Given the description of an element on the screen output the (x, y) to click on. 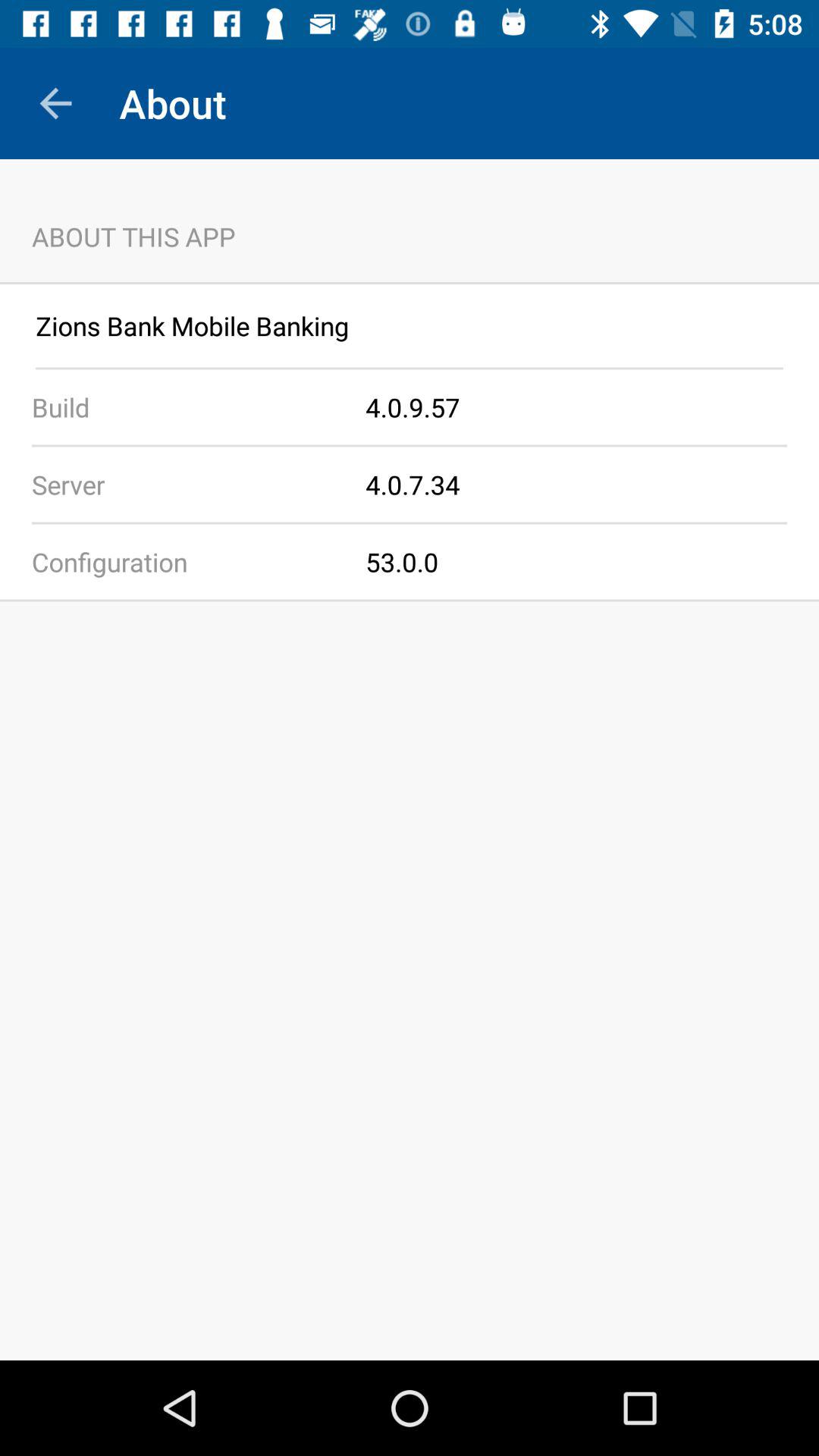
launch app to the left of the 53.0.0 icon (182, 561)
